Given the description of an element on the screen output the (x, y) to click on. 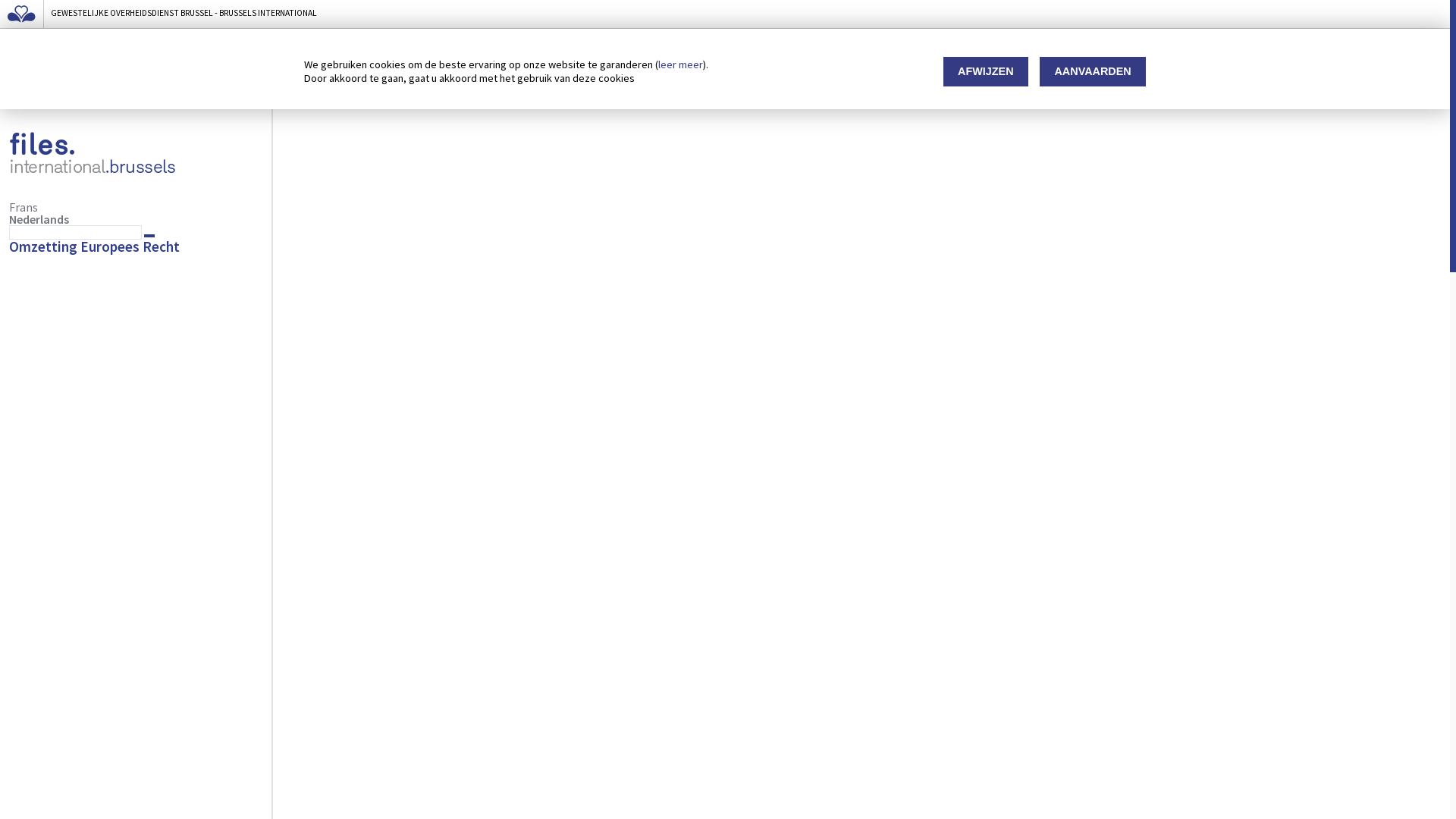
Frans Element type: text (23, 206)
AFWIJZEN Element type: text (985, 71)
Search Element type: text (149, 235)
Omzetting Europees Recht Element type: text (94, 246)
leer meer Element type: text (680, 64)
Log in Element type: text (34, 89)
Nederlands Element type: text (39, 218)
files.
international.brussels Element type: text (135, 154)
AANVAARDEN Element type: text (1092, 71)
